Given the description of an element on the screen output the (x, y) to click on. 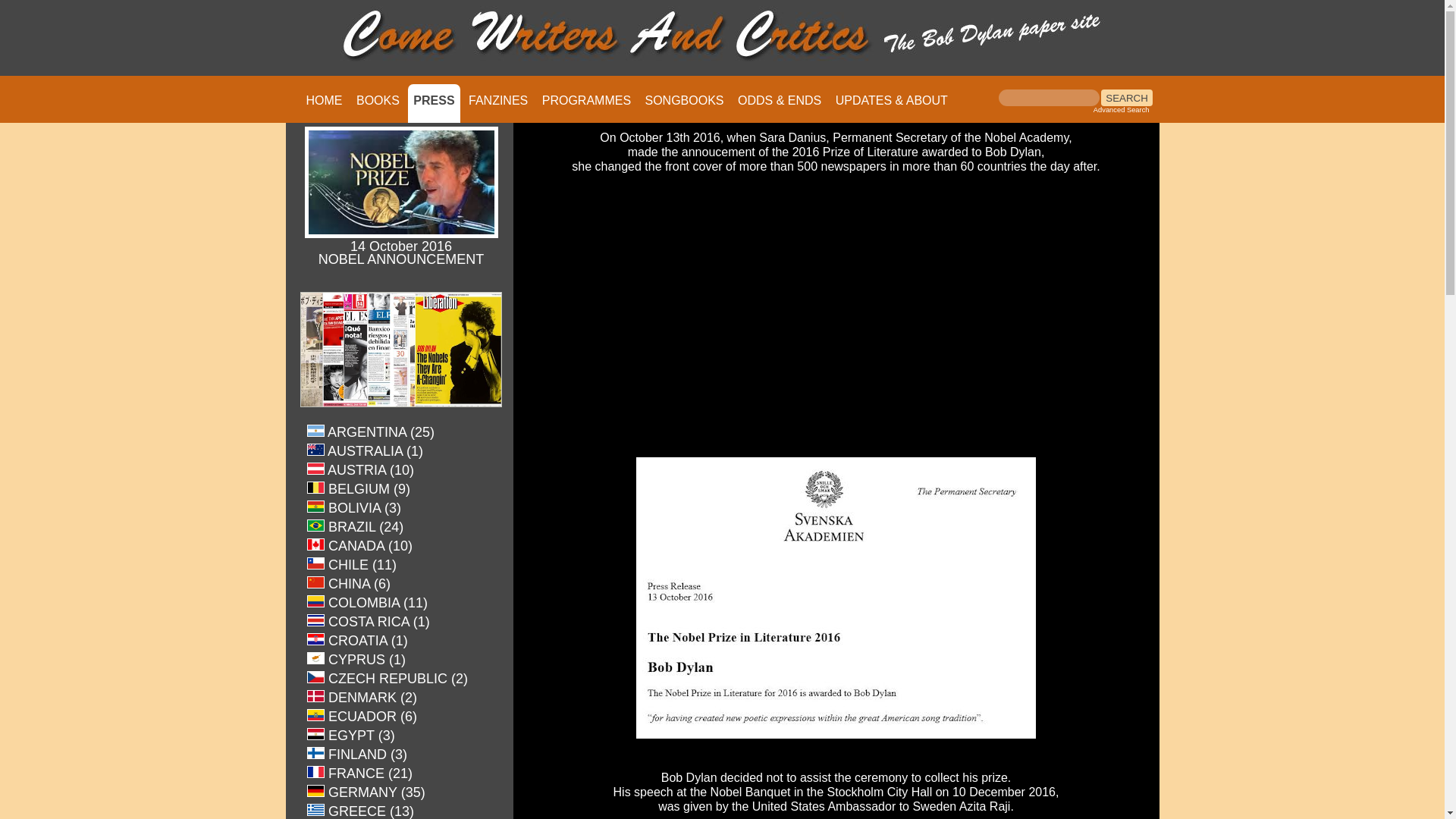
Dylan Nobel Prize newspapers in Cyprus (356, 659)
Advanced Search (1121, 109)
Dylan Nobel Prize newspapers in Chile (351, 564)
Dylan Nobel Prize newspapers in Australia (365, 451)
PROGRAMMES (586, 100)
SEARCH (1126, 97)
SEARCH (1126, 97)
Dylan Nobel Prize newspapers in Croatia (357, 640)
SONGBOOKS (684, 100)
Dylan Nobel Prize newspapers in Costa Rica (368, 621)
Bob Dylan Books (377, 100)
Bob Dylan tour programmes (586, 100)
BOOKS (377, 100)
Dylan Nobel Prize newspapers in Bolivia (354, 508)
HOME (323, 100)
